Given the description of an element on the screen output the (x, y) to click on. 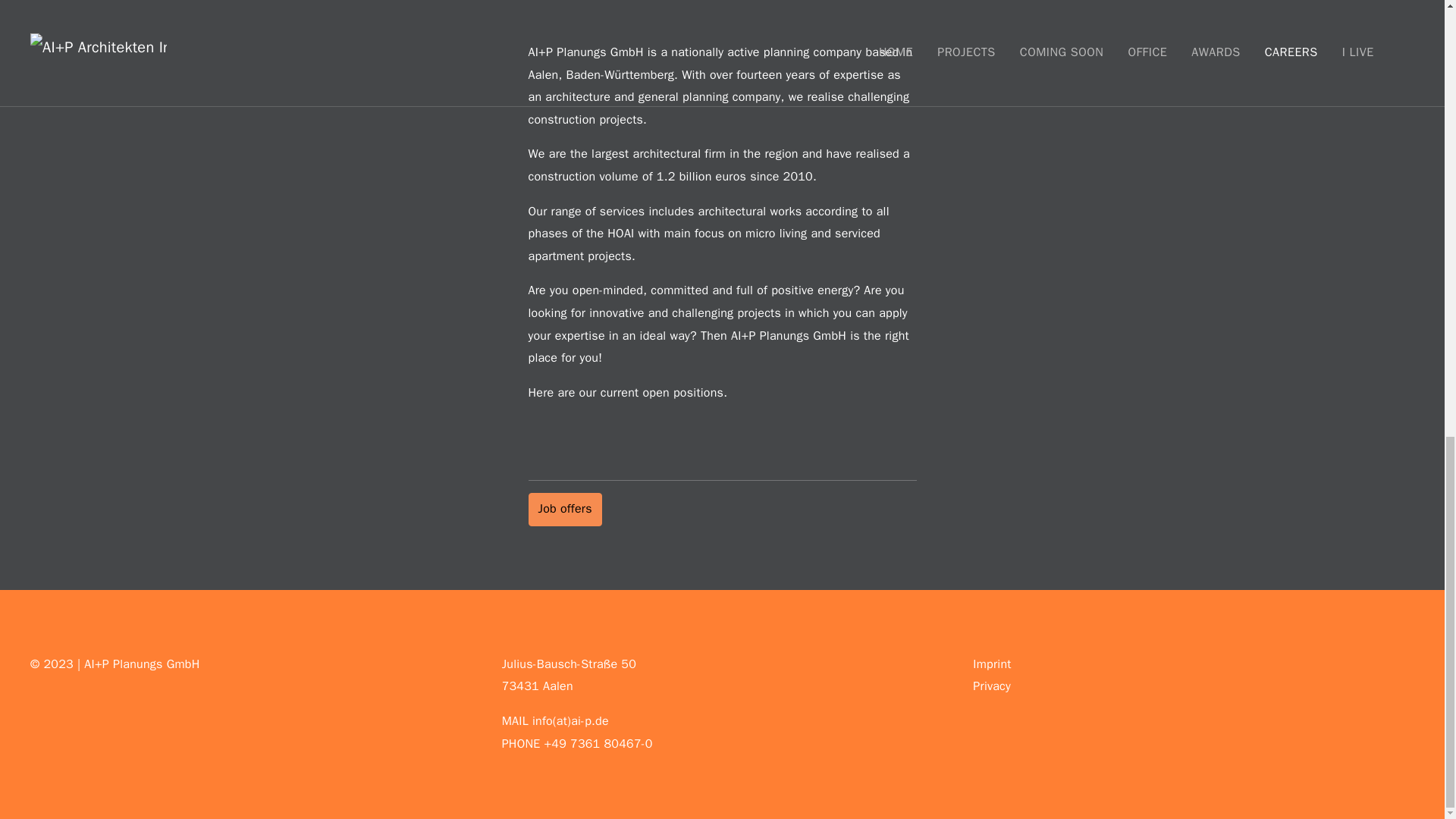
Job offers (564, 509)
Imprint (991, 663)
Privacy (991, 685)
